Given the description of an element on the screen output the (x, y) to click on. 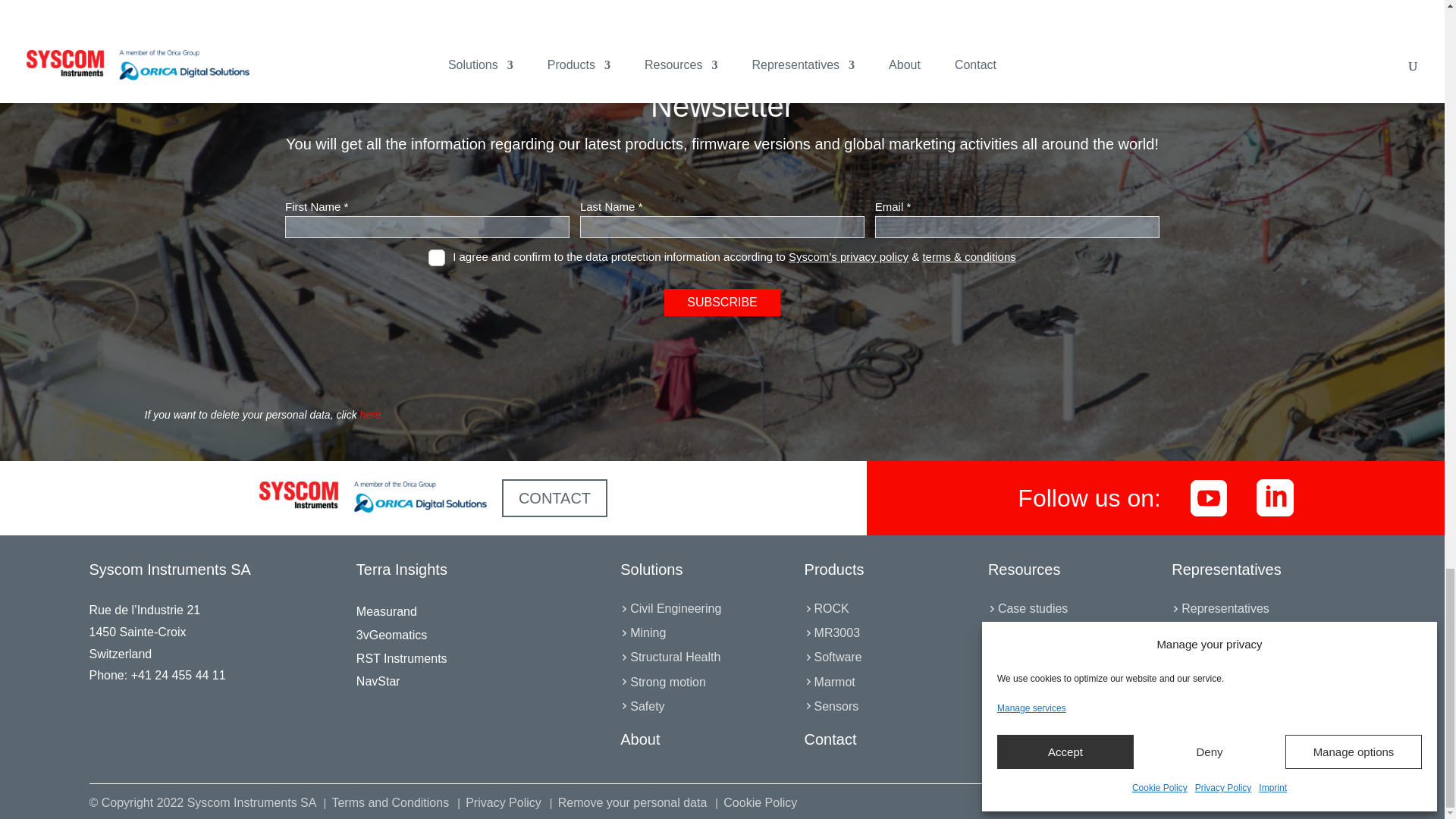
3vGeomatics (391, 634)
Terra Insights (401, 569)
RST Instruments (401, 658)
Measurand (386, 611)
Bartec Syscom YouTube Channel (1209, 497)
NavStar (378, 680)
Syscom Linkedin Page (1275, 497)
